Given the description of an element on the screen output the (x, y) to click on. 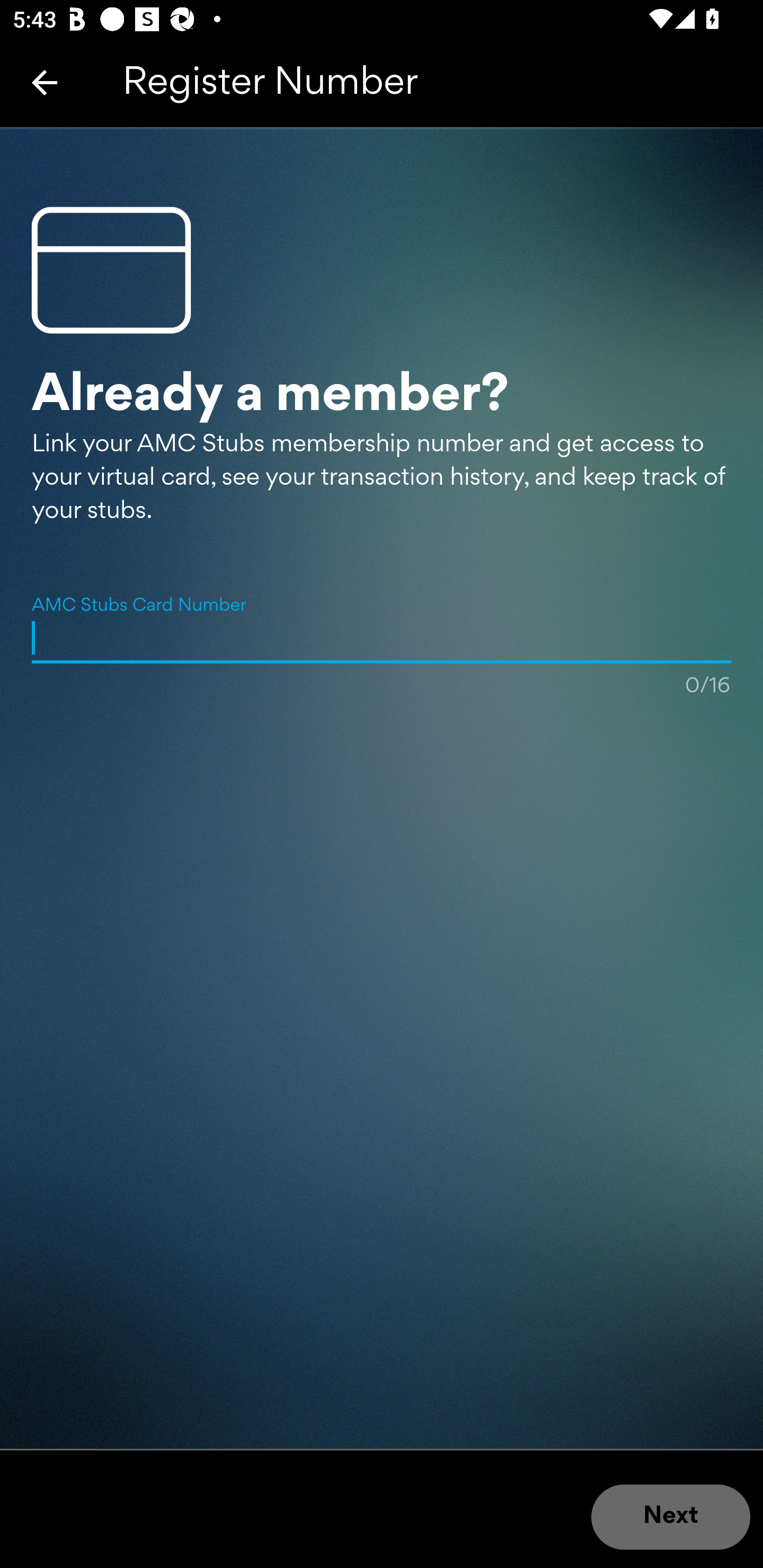
Back (44, 82)
16 characters remaining (381, 636)
